Given the description of an element on the screen output the (x, y) to click on. 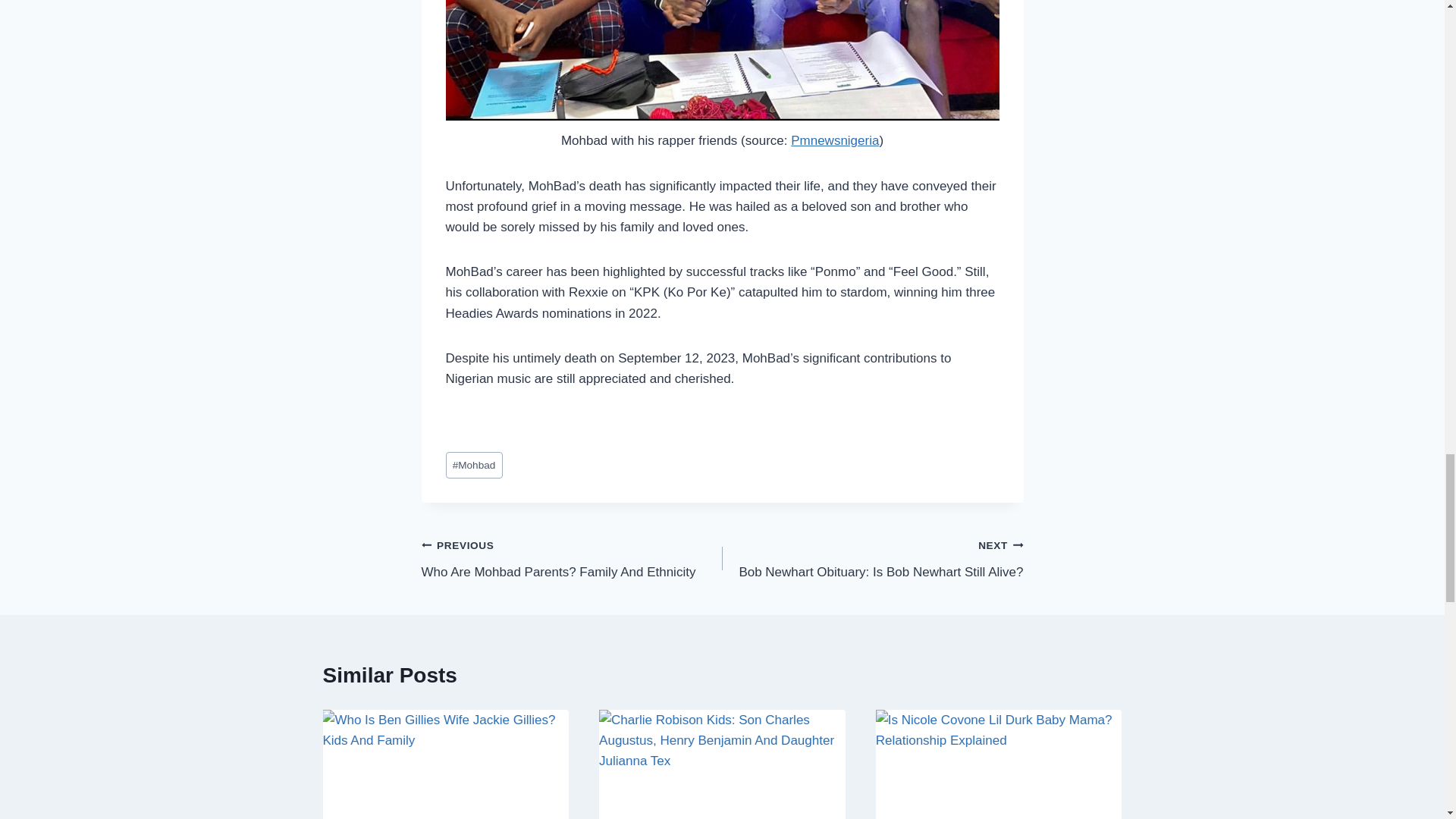
Pmnewsnigeria (572, 558)
Mohbad (834, 140)
